Given the description of an element on the screen output the (x, y) to click on. 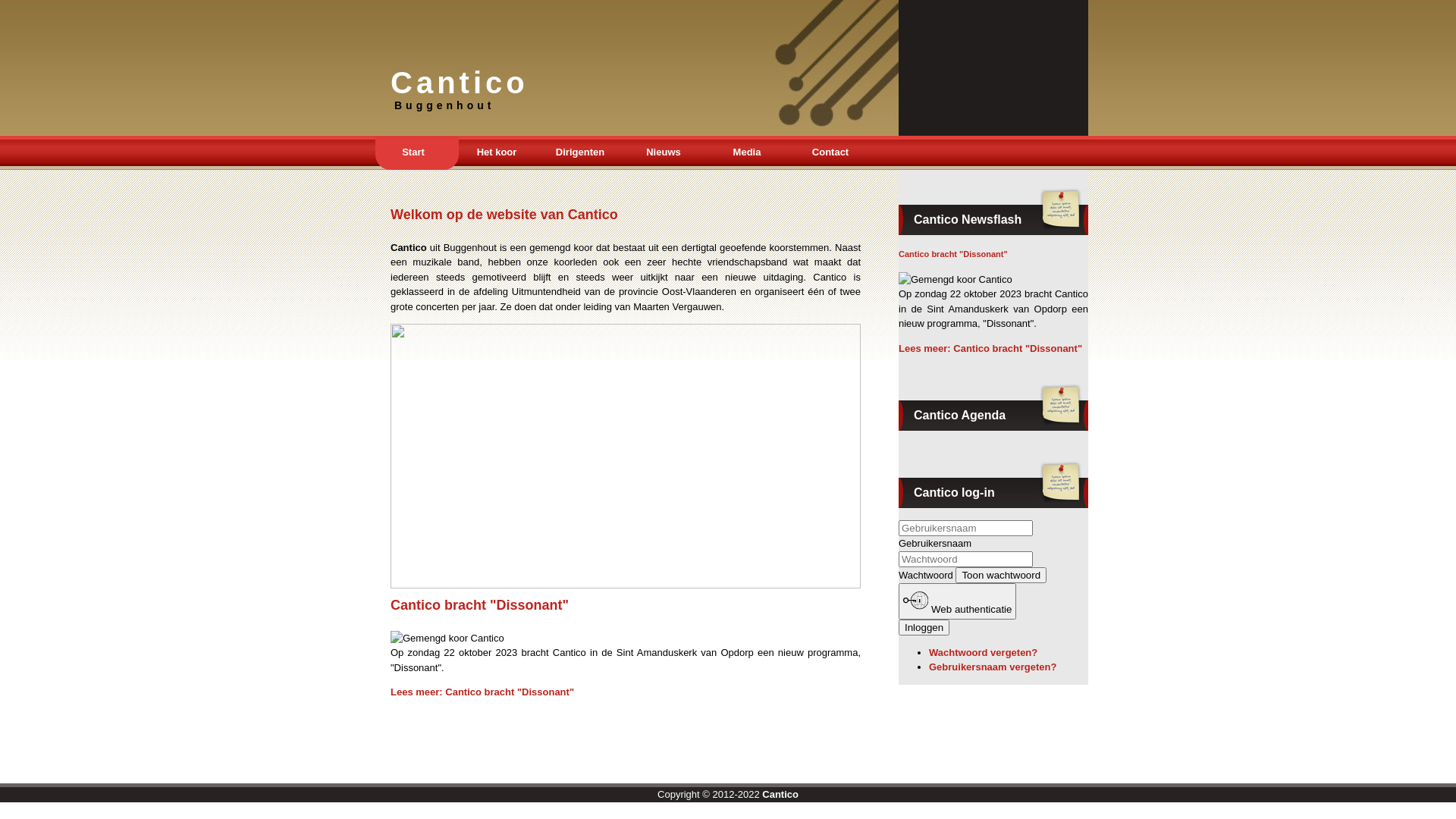
Welkom op de website van Cantico Element type: text (504, 214)
Media Element type: text (746, 152)
Dirigenten Element type: text (580, 152)
Web authenticatie Element type: text (957, 600)
Nieuws Element type: text (663, 152)
Het koor Element type: text (496, 152)
Toon wachtwoord Element type: text (1000, 575)
Cantico bracht "Dissonant" Element type: text (952, 253)
Start Element type: text (413, 152)
Cantico Element type: text (780, 794)
Lees meer: Cantico bracht "Dissonant" Element type: text (482, 691)
Inloggen Element type: text (923, 626)
Contact Element type: text (830, 152)
Cantico bracht "Dissonant" Element type: text (479, 604)
Lees meer: Cantico bracht "Dissonant" Element type: text (990, 348)
Wachtwoord vergeten? Element type: text (982, 651)
Gebruikersnaam vergeten? Element type: text (992, 666)
